Given the description of an element on the screen output the (x, y) to click on. 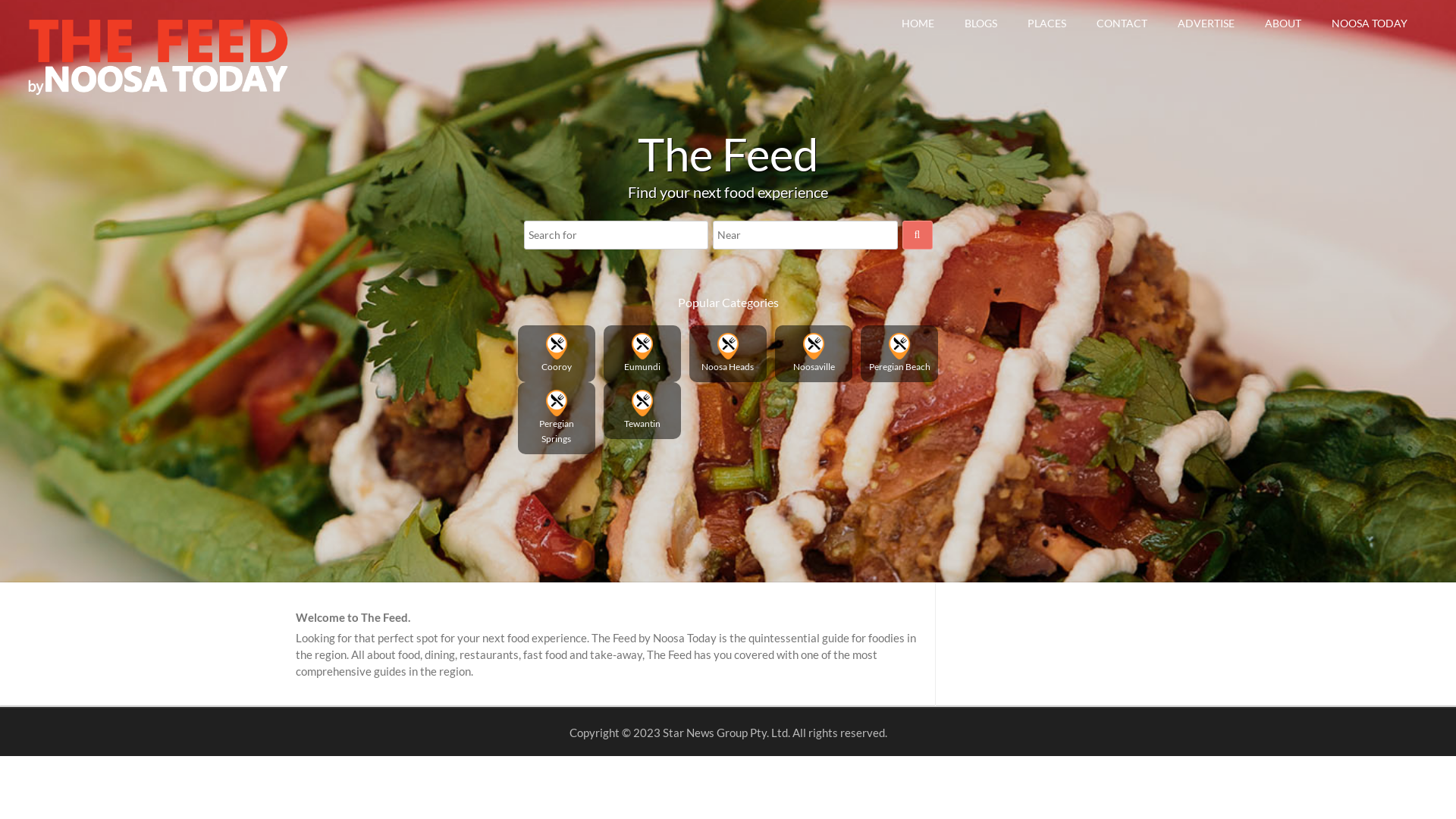
Noosa Heads Element type: text (727, 352)
Cooroy Element type: text (555, 352)
CONTACT Element type: text (1121, 22)
HOME Element type: text (917, 22)
Tewantin Element type: text (642, 410)
Peregian Beach Element type: text (899, 352)
Noosaville Element type: text (813, 352)
ADVERTISE Element type: text (1205, 22)
ABOUT Element type: text (1282, 22)
NOOSA TODAY Element type: text (1369, 22)
BLOGS Element type: text (980, 22)
Eumundi Element type: text (642, 352)
The Feed Element type: hover (159, 93)
PLACES Element type: text (1046, 22)
Peregian Springs Element type: text (555, 417)
